Given the description of an element on the screen output the (x, y) to click on. 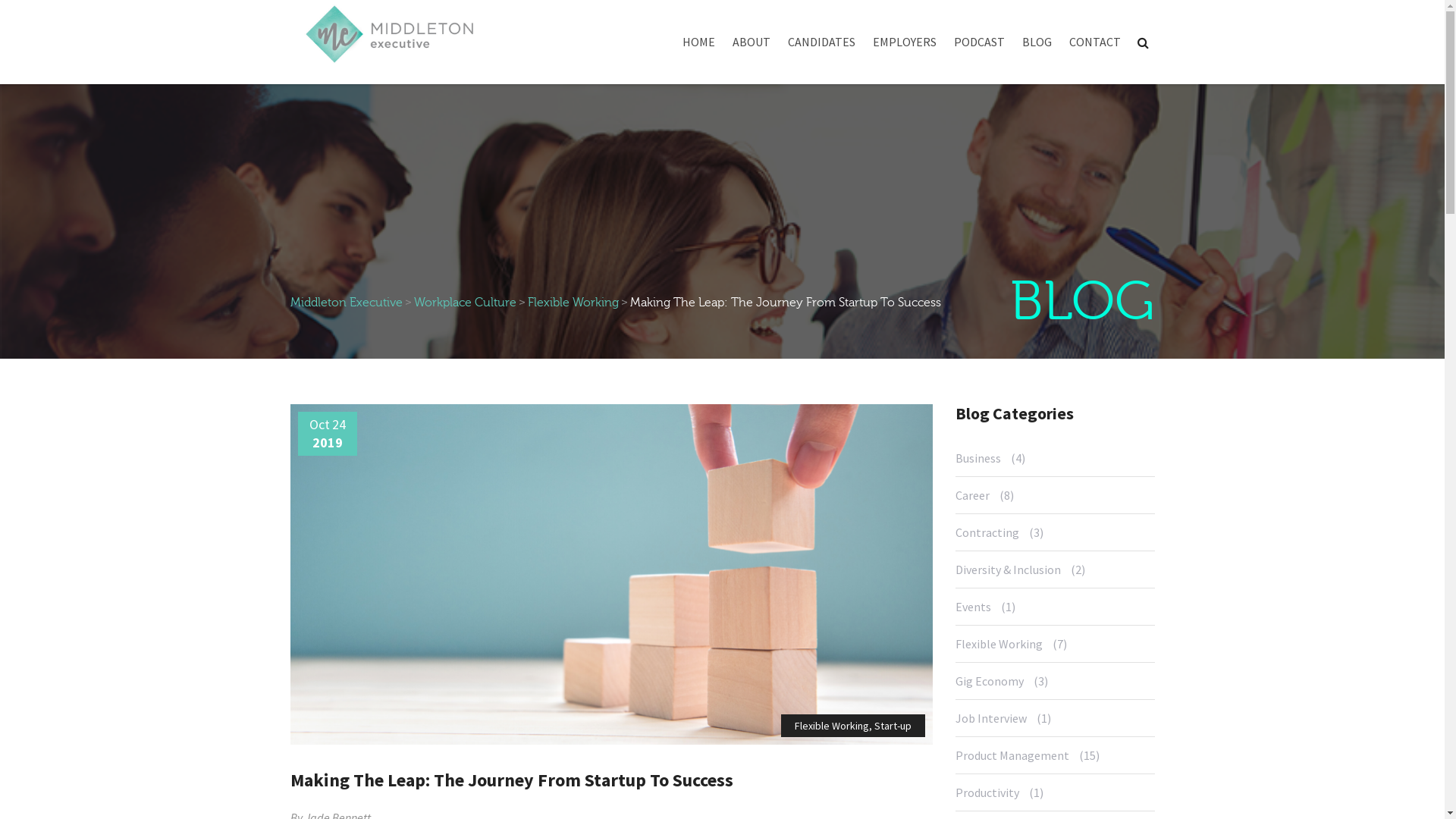
Job Interview Element type: text (994, 717)
Gig Economy Element type: text (993, 680)
Diversity & Inclusion Element type: text (1011, 569)
Business Element type: text (981, 462)
Flexible Working Element type: text (572, 302)
Career Element type: text (976, 494)
Flexible Working Element type: text (1002, 643)
HOME Element type: text (698, 46)
Start-up Element type: text (892, 725)
ABOUT Element type: text (751, 46)
CANDIDATES Element type: text (820, 46)
Events Element type: text (976, 606)
CONTACT Element type: text (1094, 46)
Middleton Executive Element type: text (345, 302)
Contracting Element type: text (990, 532)
PODCAST Element type: text (978, 46)
BLOG Element type: text (1036, 46)
Product Management Element type: text (1015, 755)
Workplace Culture Element type: text (465, 302)
Productivity Element type: text (990, 792)
EMPLOYERS Element type: text (903, 46)
Flexible Working Element type: text (831, 725)
